Given the description of an element on the screen output the (x, y) to click on. 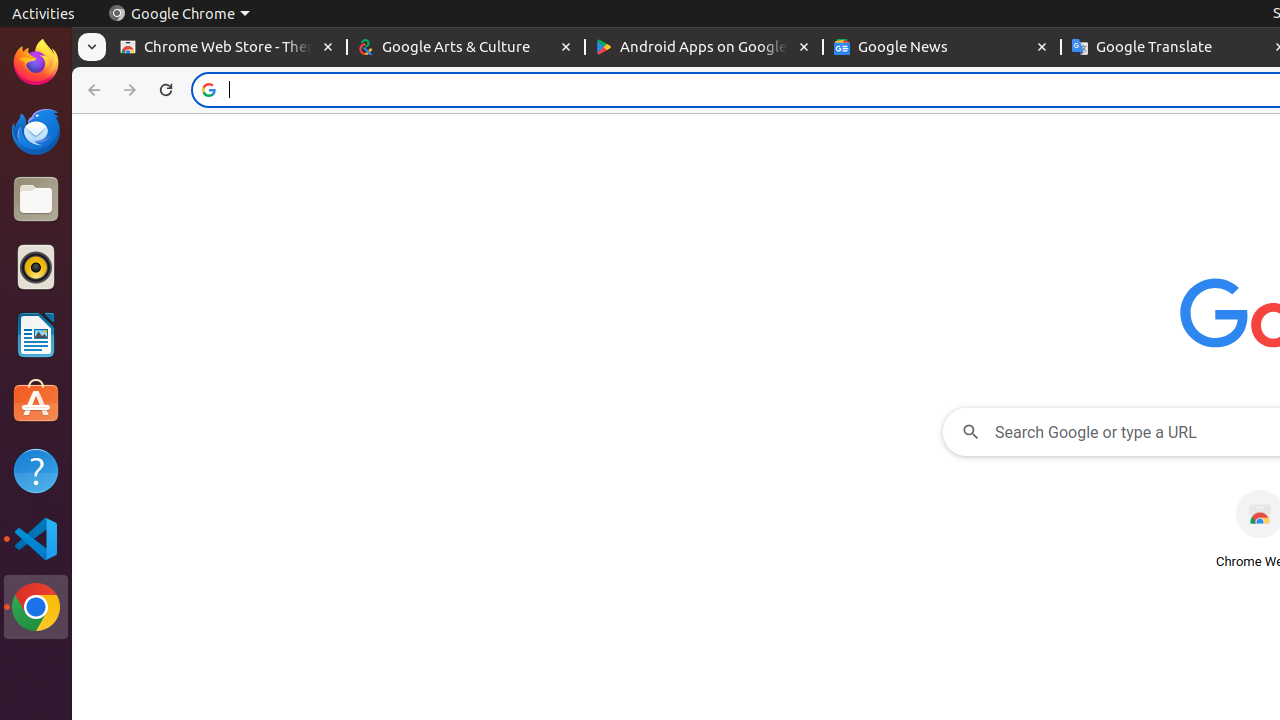
Rhythmbox Element type: push-button (36, 267)
